Given the description of an element on the screen output the (x, y) to click on. 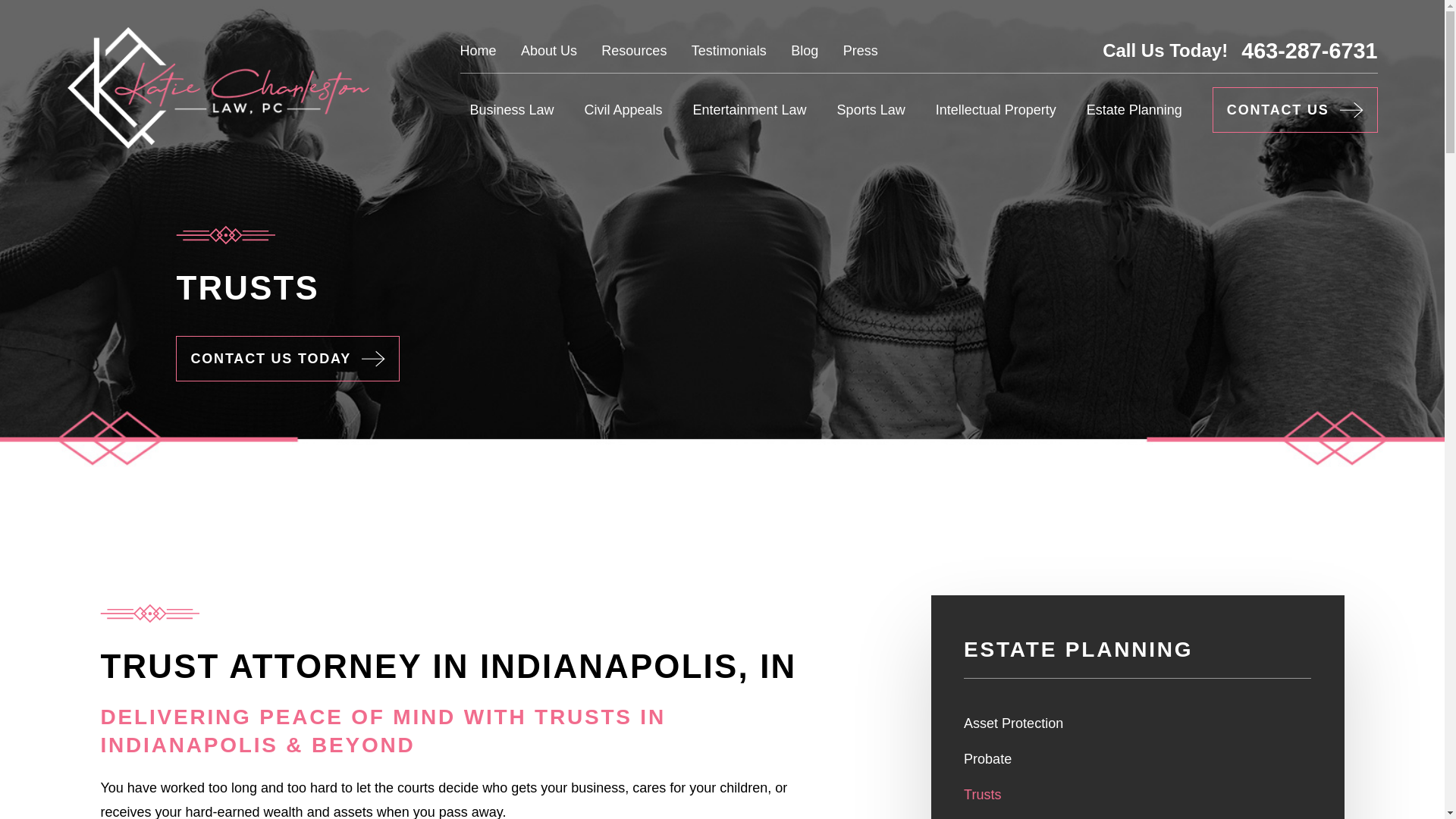
Press (860, 50)
Business Law (510, 109)
About Us (548, 50)
Blog (804, 50)
Testimonials (729, 50)
Estate Planning (1134, 109)
Sports Law (871, 109)
Civil Appeals (622, 109)
463-287-6731 (1309, 51)
Entertainment Law (749, 109)
